Given the description of an element on the screen output the (x, y) to click on. 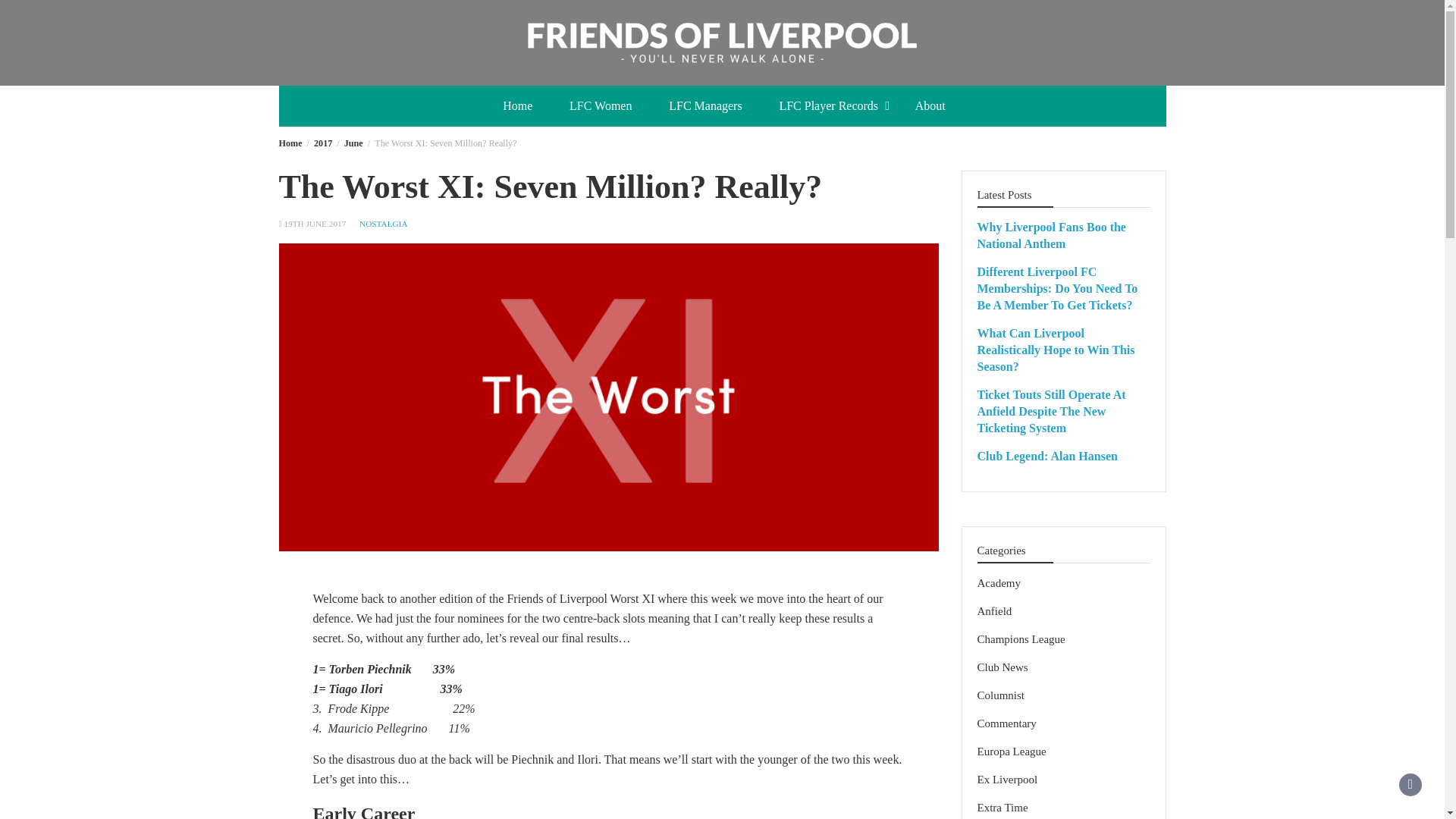
Why Liverpool Fans Boo the National Anthem (1050, 235)
Anfield (993, 611)
June (352, 143)
19TH JUNE 2017 (314, 223)
Club News (1001, 666)
2017 (322, 143)
LFC Managers (705, 105)
Home (290, 143)
Champions League (1020, 639)
Club Legend: Alan Hansen (1046, 455)
Columnist (1000, 695)
What Can Liverpool Realistically Hope to Win This Season? (1055, 349)
About (929, 105)
LFC Women (600, 105)
